Given the description of an element on the screen output the (x, y) to click on. 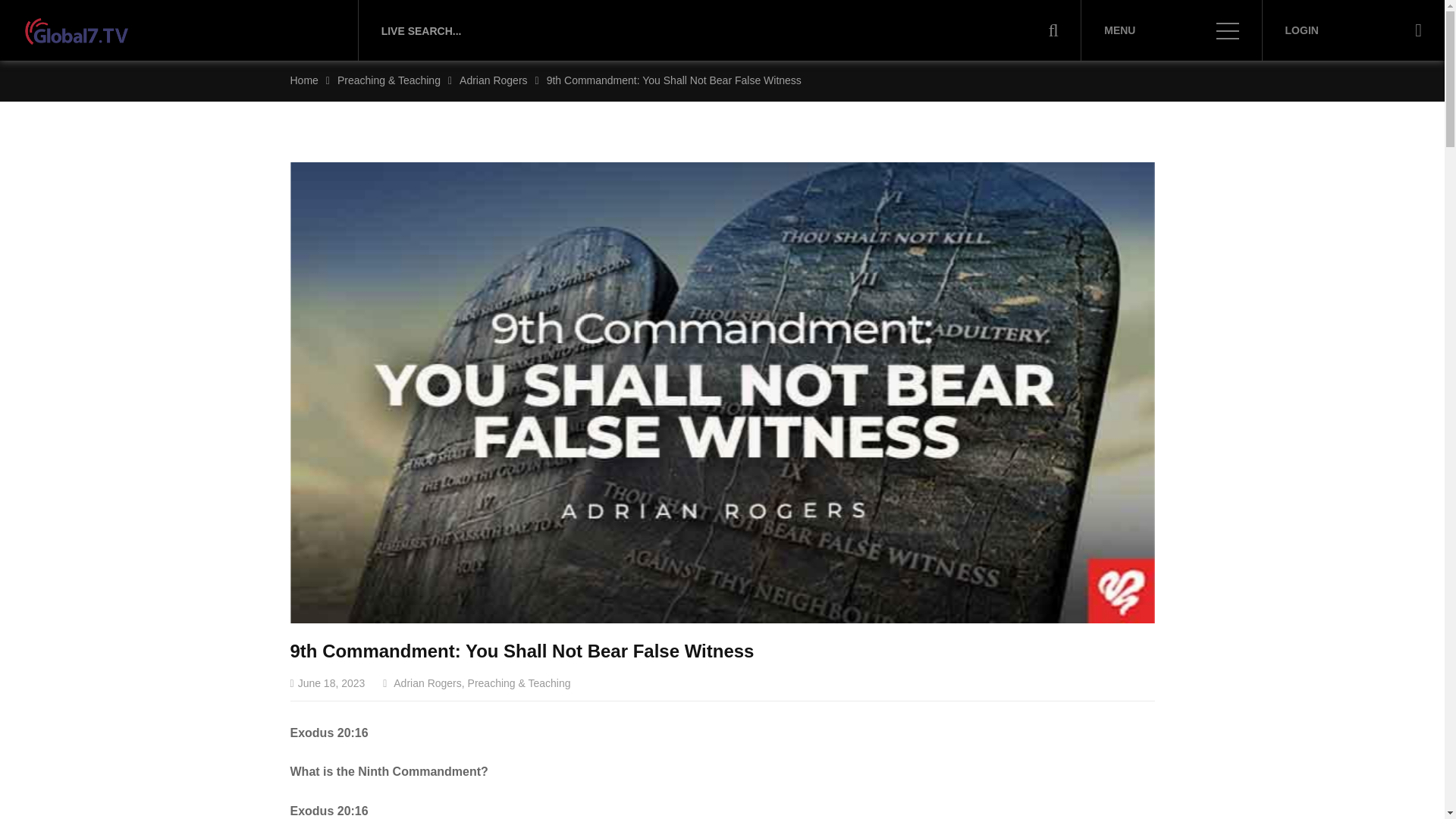
MENU (1170, 30)
Home (303, 80)
Adrian Rogers (427, 683)
Adrian Rogers (493, 80)
June 18, 2023 (327, 683)
